Given the description of an element on the screen output the (x, y) to click on. 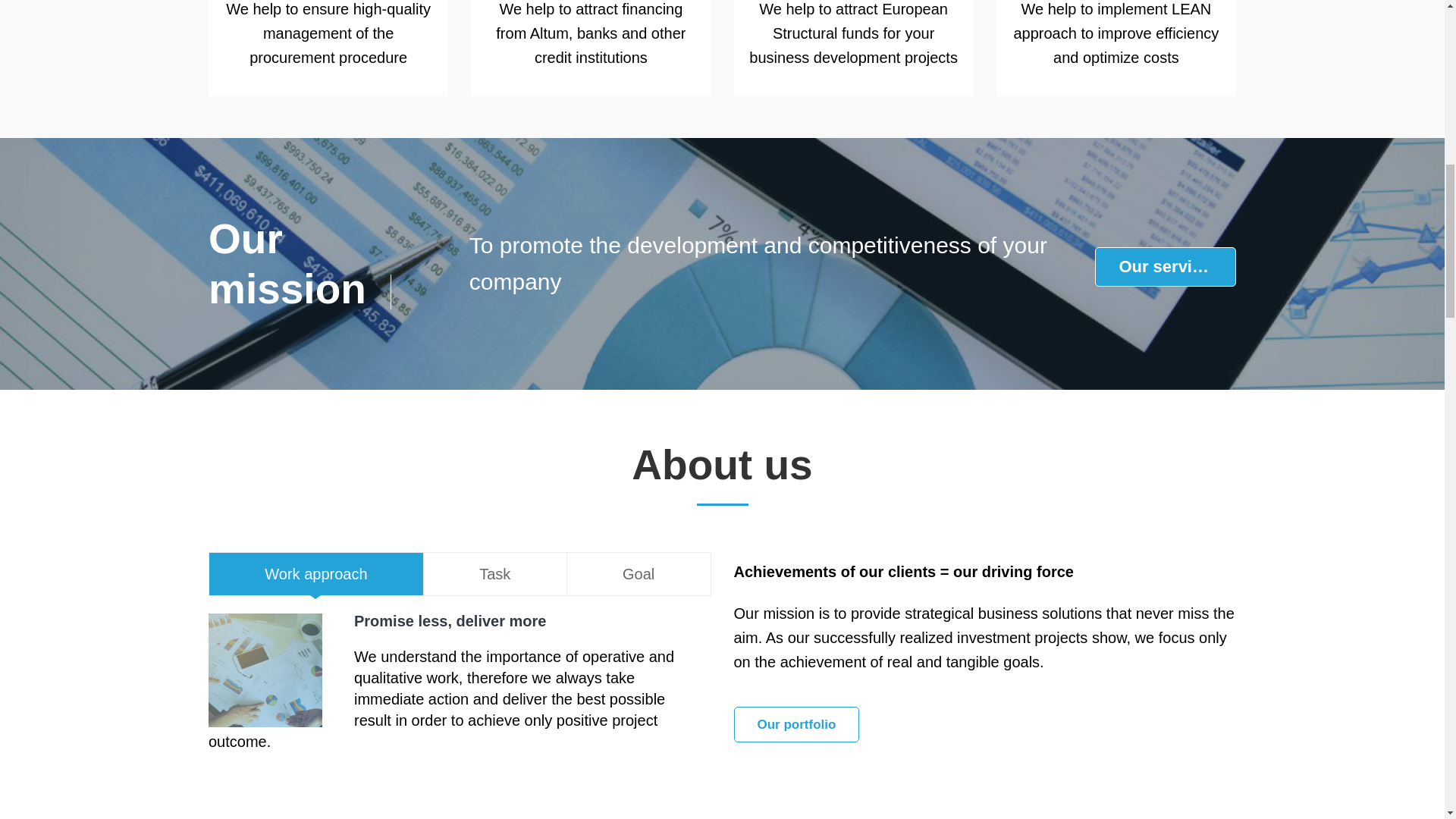
Work approach (315, 573)
Our portfolio (796, 724)
Goal (638, 573)
Task (495, 573)
Our services (1165, 266)
